Given the description of an element on the screen output the (x, y) to click on. 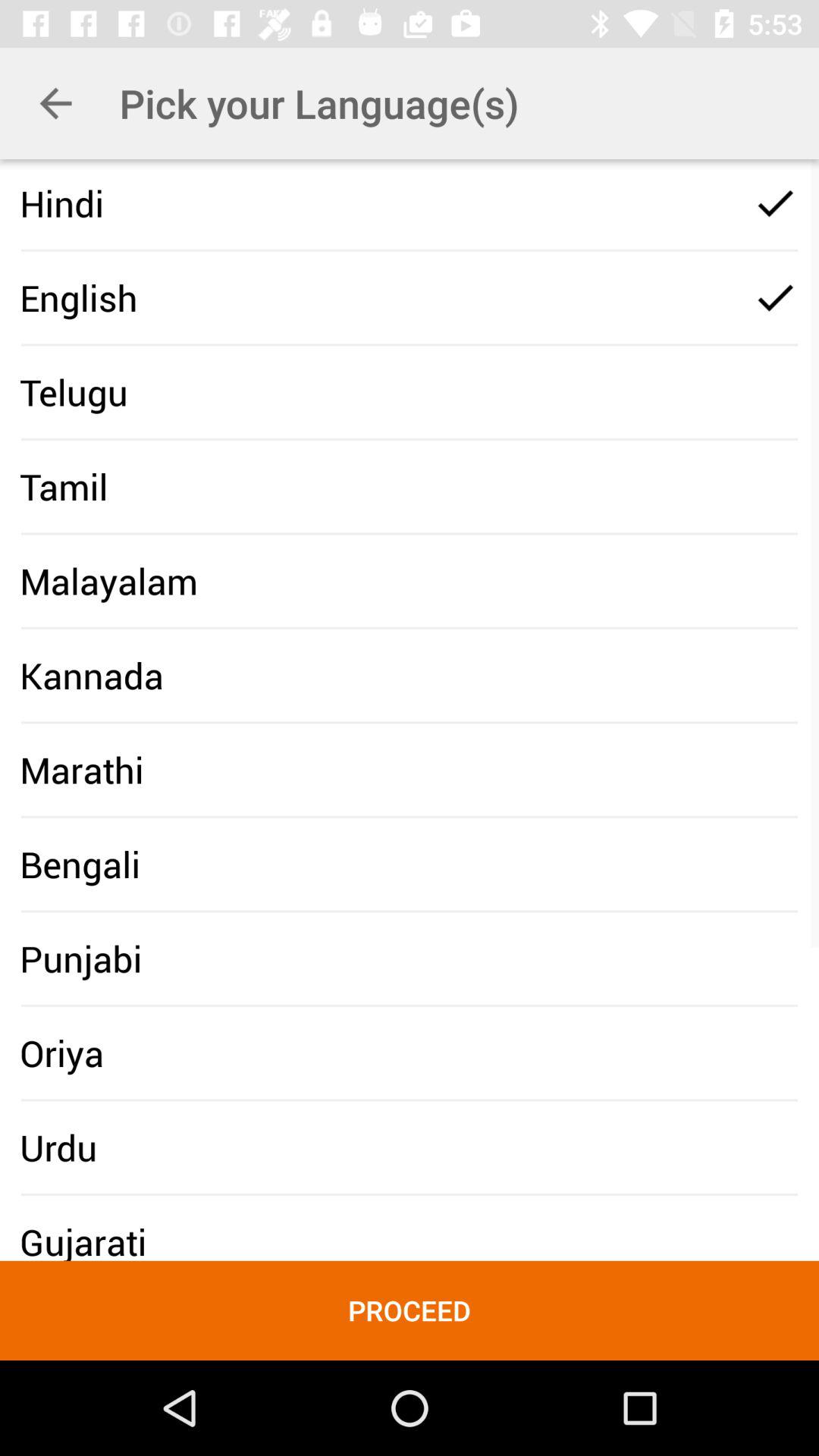
click gujarati item (82, 1241)
